Given the description of an element on the screen output the (x, y) to click on. 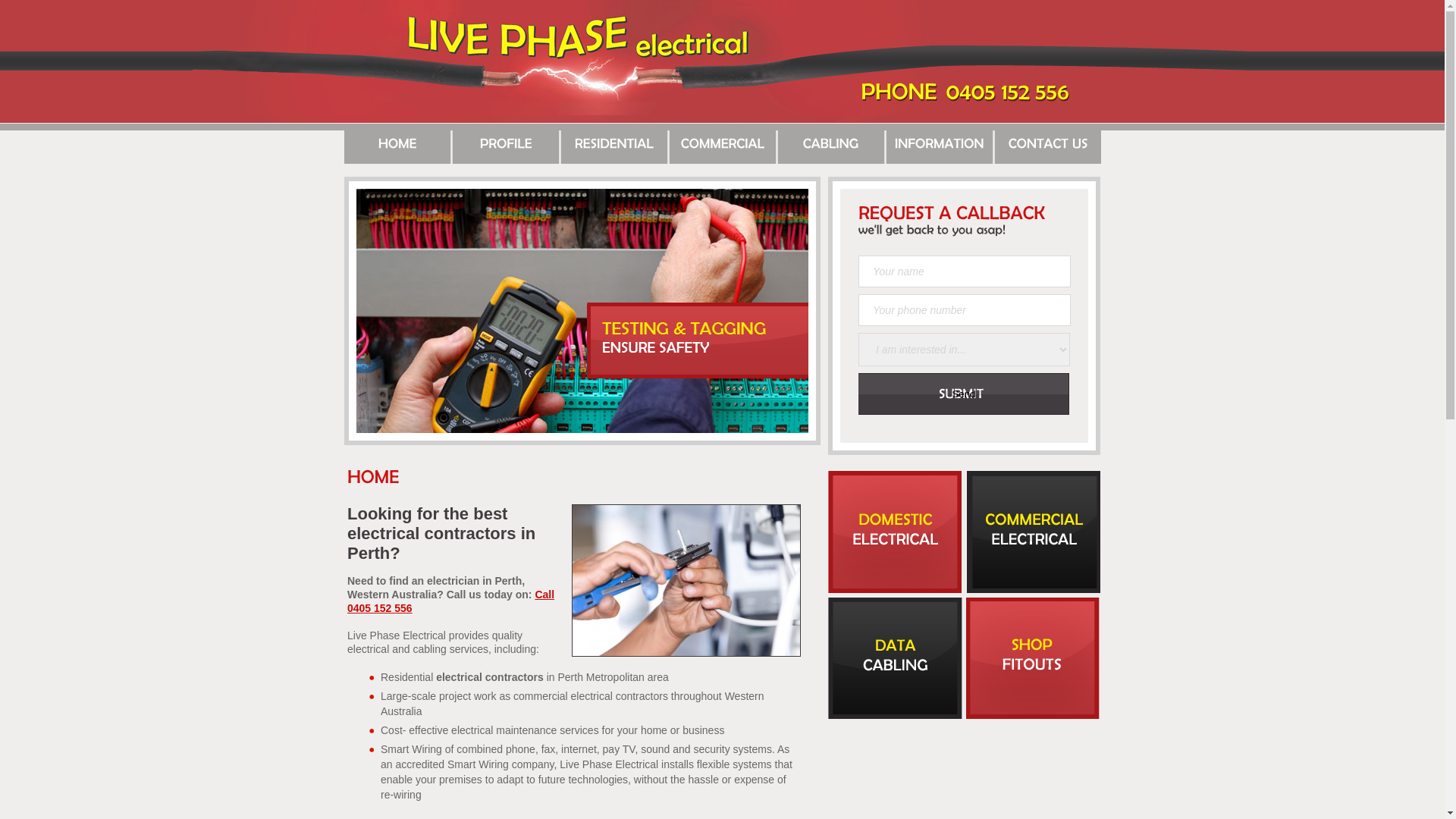
Send Element type: text (963, 393)
Live Phase Electrical Element type: text (578, 36)
Call 0405 152 556 Element type: text (450, 601)
